Given the description of an element on the screen output the (x, y) to click on. 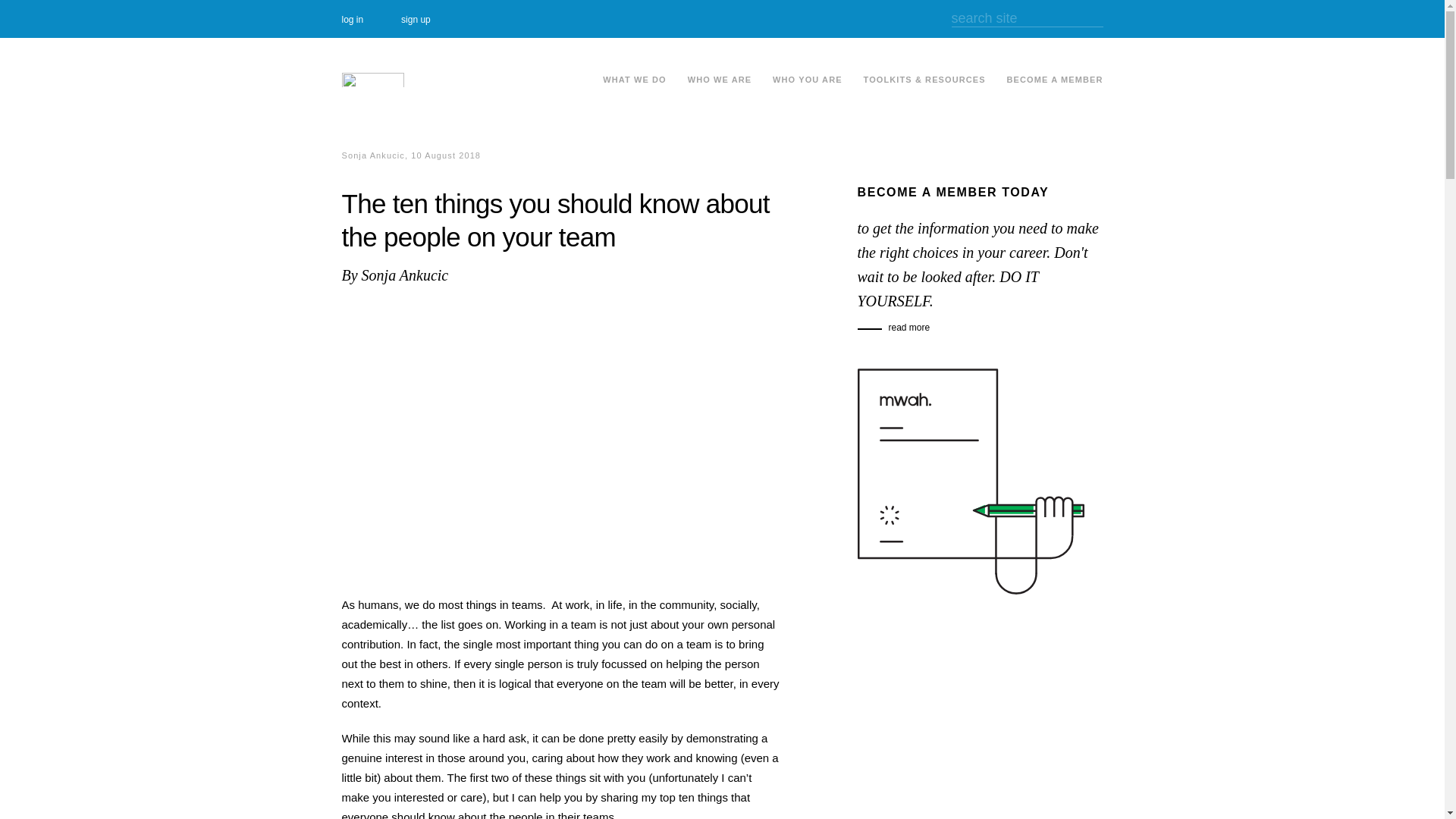
WHAT WE DO (634, 79)
sign up (433, 19)
BECOME A MEMBER (1054, 79)
WHO YOU ARE (807, 79)
log in (368, 19)
mwah. (371, 78)
WHO WE ARE (719, 79)
